Given the description of an element on the screen output the (x, y) to click on. 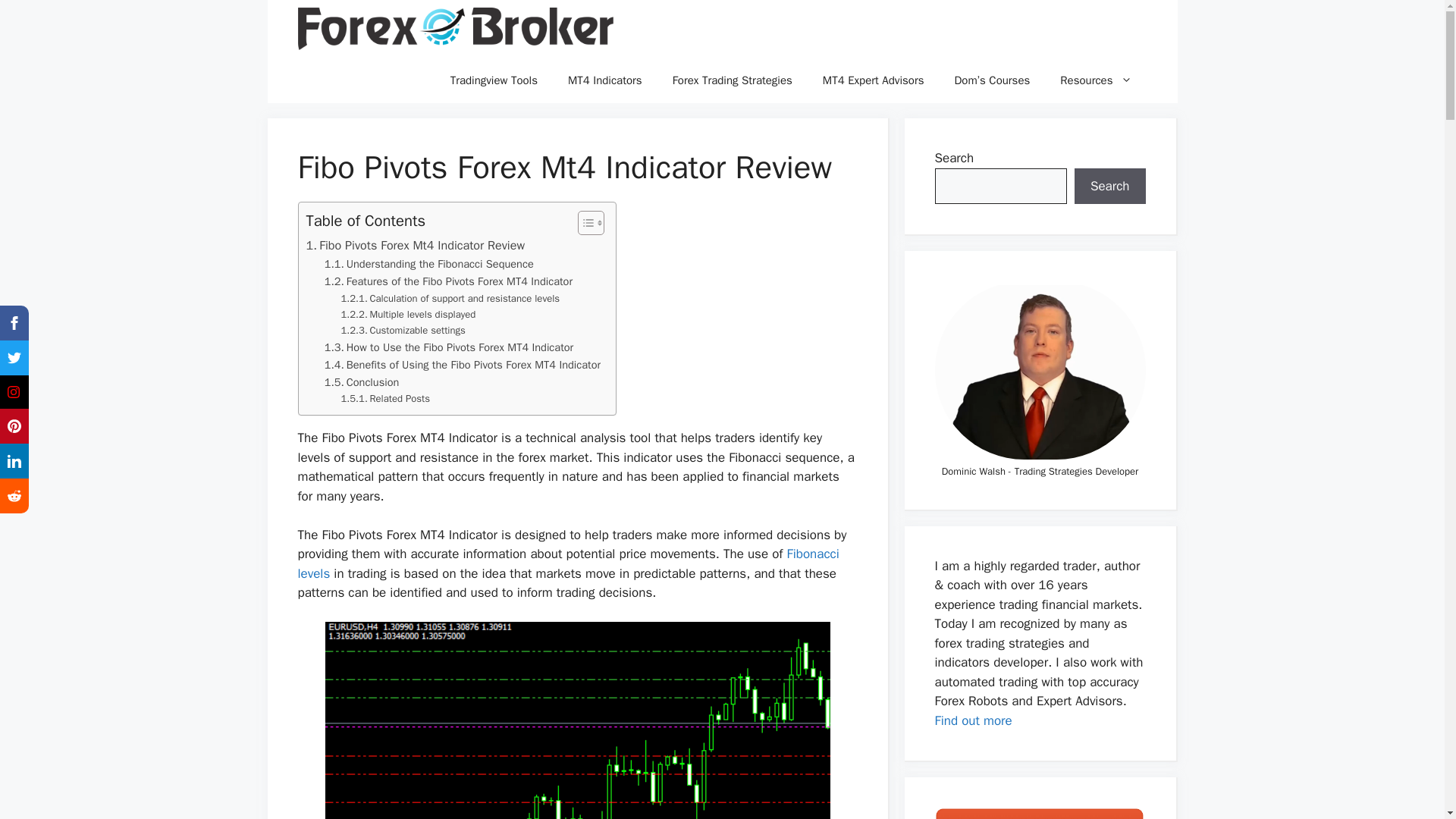
Benefits of Using the Fibo Pivots Forex MT4 Indicator (461, 364)
Forexobroker (454, 28)
Fibo Pivots Forex Mt4 Indicator Review (415, 245)
Understanding the Fibonacci Sequence (429, 263)
Related Posts (385, 399)
MT4 Expert Advisors (873, 80)
Fibo Pivots Forex Mt4 Indicator Review (415, 245)
Multiple levels displayed (408, 314)
Calculation of support and resistance levels (450, 299)
Benefits of Using the Fibo Pivots Forex MT4 Indicator (461, 364)
Forex Trading Strategies (733, 80)
How to Use the Fibo Pivots Forex MT4 Indicator (448, 346)
Multiple levels displayed (408, 314)
Tradingview Tools (494, 80)
Fibonacci levels (567, 563)
